Given the description of an element on the screen output the (x, y) to click on. 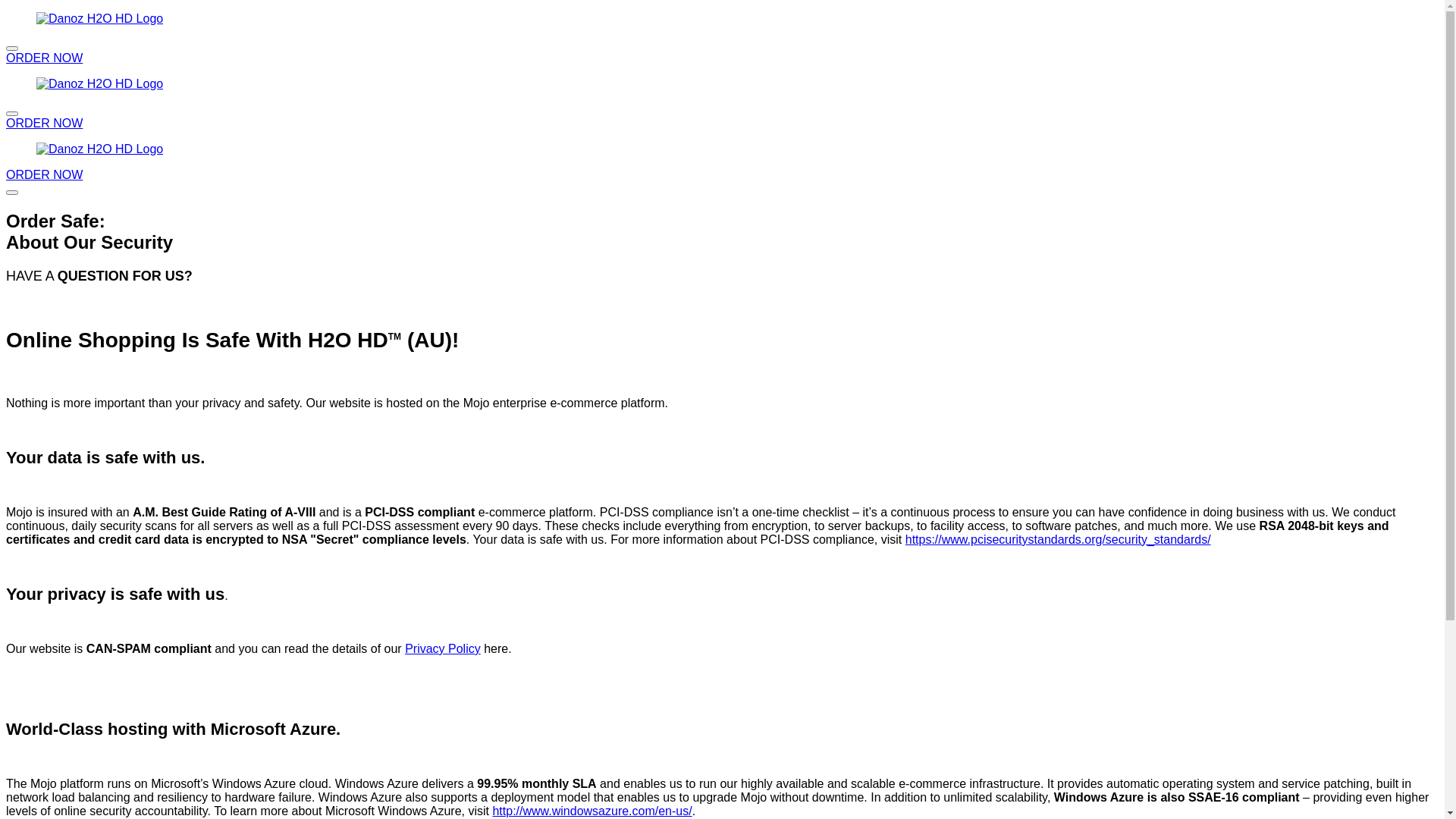
https://www.pcisecuritystandards.org/security_standards/ Element type: text (1058, 539)
ORDER NOW Element type: text (44, 174)
http://www.windowsazure.com/en-us/ Element type: text (591, 810)
ORDER NOW Element type: text (44, 57)
ORDER NOW Element type: text (44, 122)
Privacy Policy Element type: text (442, 648)
